Given the description of an element on the screen output the (x, y) to click on. 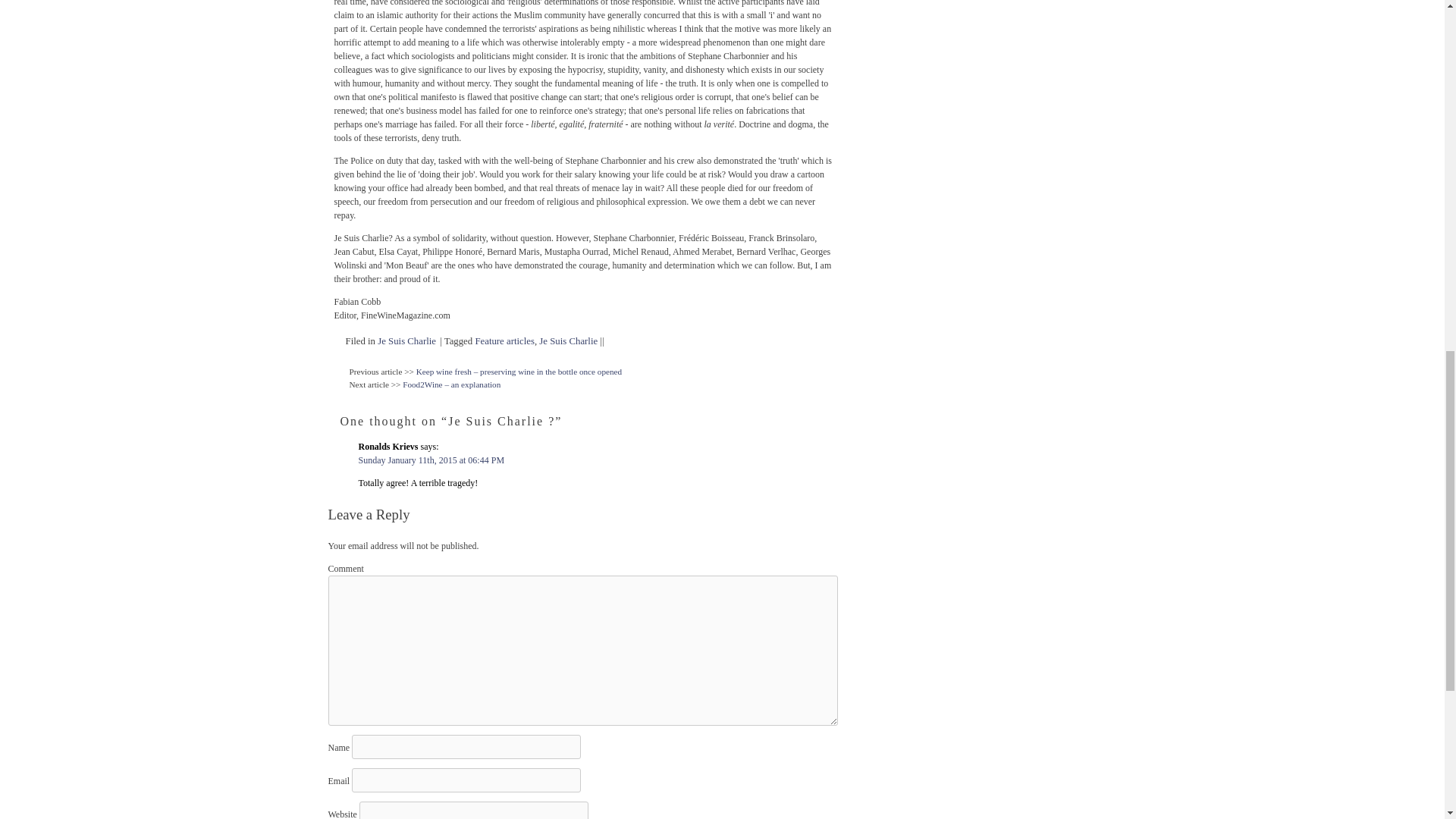
Je Suis Charlie (567, 340)
Feature articles (504, 340)
Je Suis Charlie (406, 340)
